Given the description of an element on the screen output the (x, y) to click on. 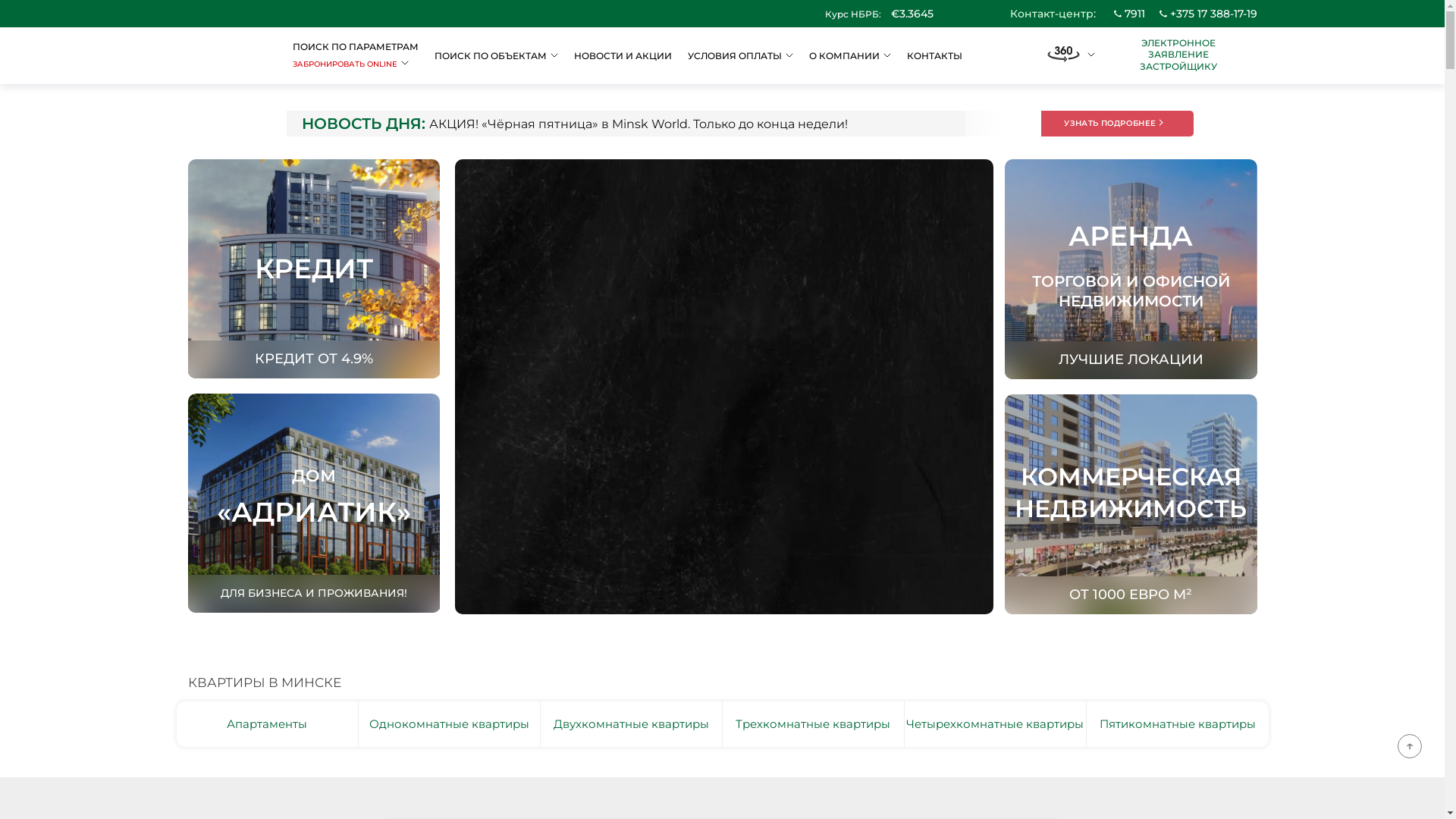
+375 17 388-17-19 Element type: text (1207, 13)
7911 Element type: text (1128, 13)
